Given the description of an element on the screen output the (x, y) to click on. 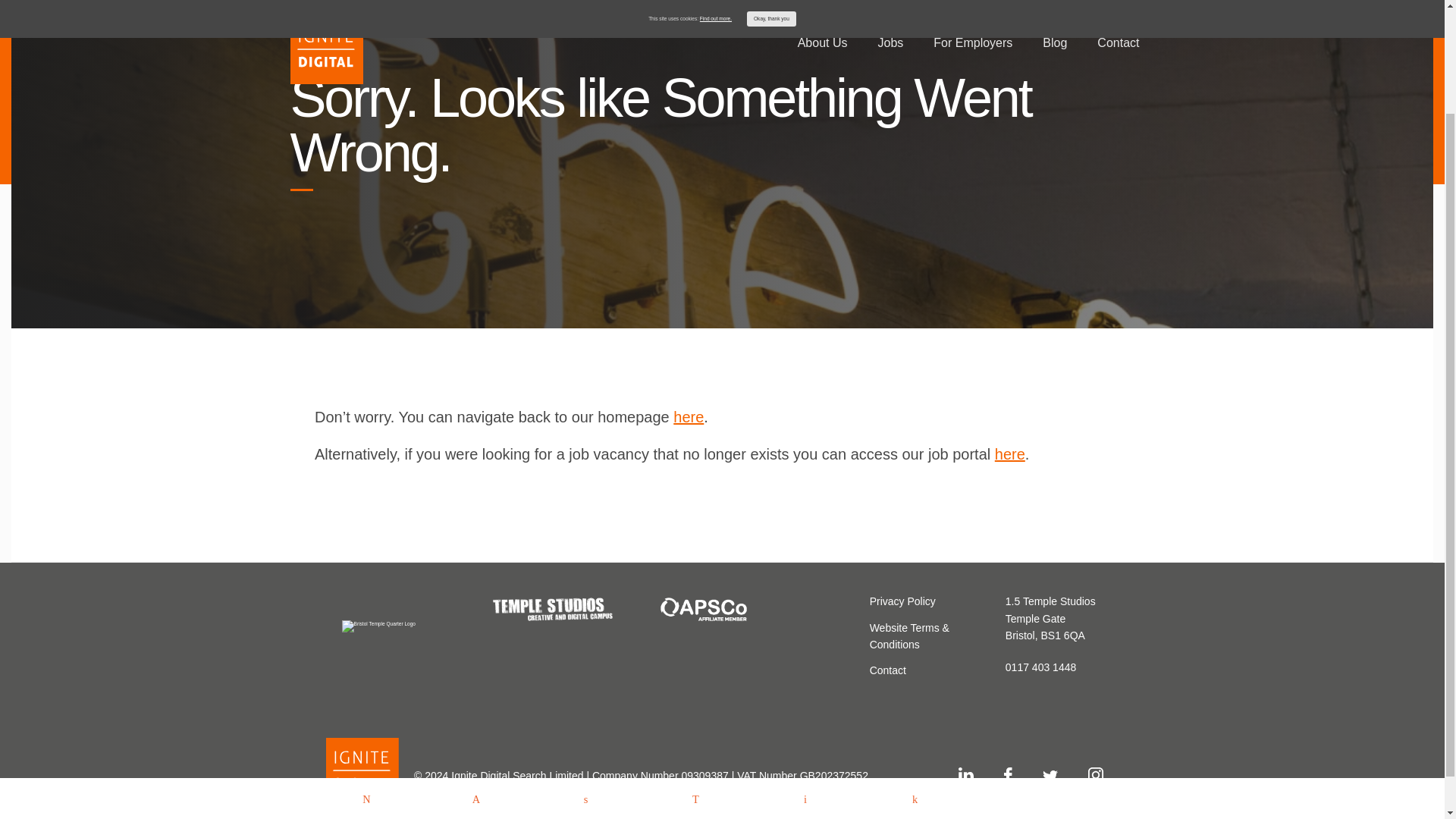
here (1009, 453)
here (687, 416)
Privacy Policy (902, 601)
Contact (887, 670)
